Given the description of an element on the screen output the (x, y) to click on. 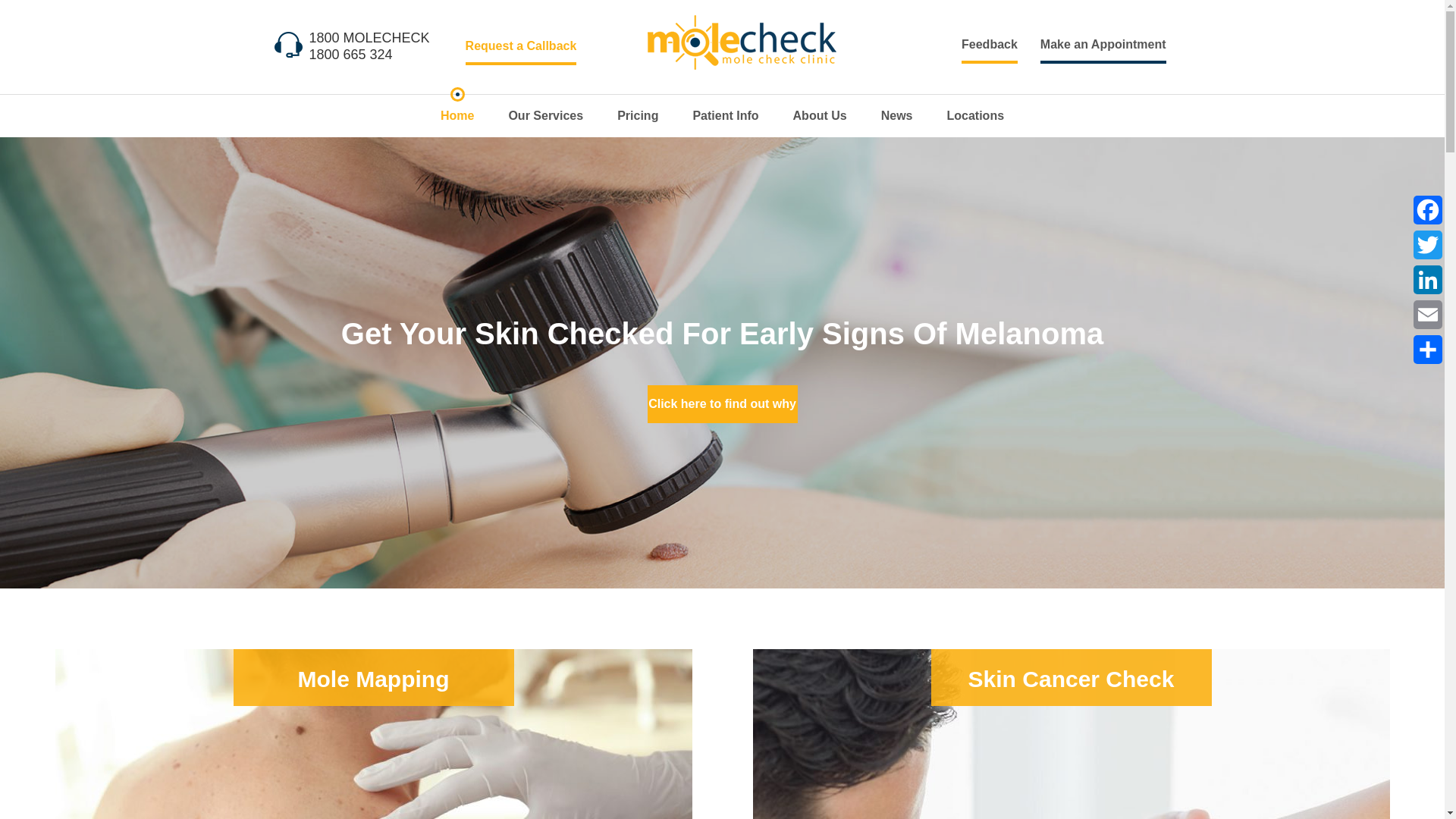
1800 MOLECHECK (368, 37)
Our Services (545, 116)
Make an Appointment (1103, 44)
Pricing (637, 116)
Request a Callback (520, 46)
Pricing (637, 116)
About Us (820, 116)
Feedback (988, 44)
Request a Callback (520, 46)
Make an Enquiry (1103, 44)
1800 MOLECHECK (368, 37)
1800 665 324 (350, 54)
Feed Back (988, 44)
1800 665 324 (350, 54)
Patient Info (725, 116)
